Given the description of an element on the screen output the (x, y) to click on. 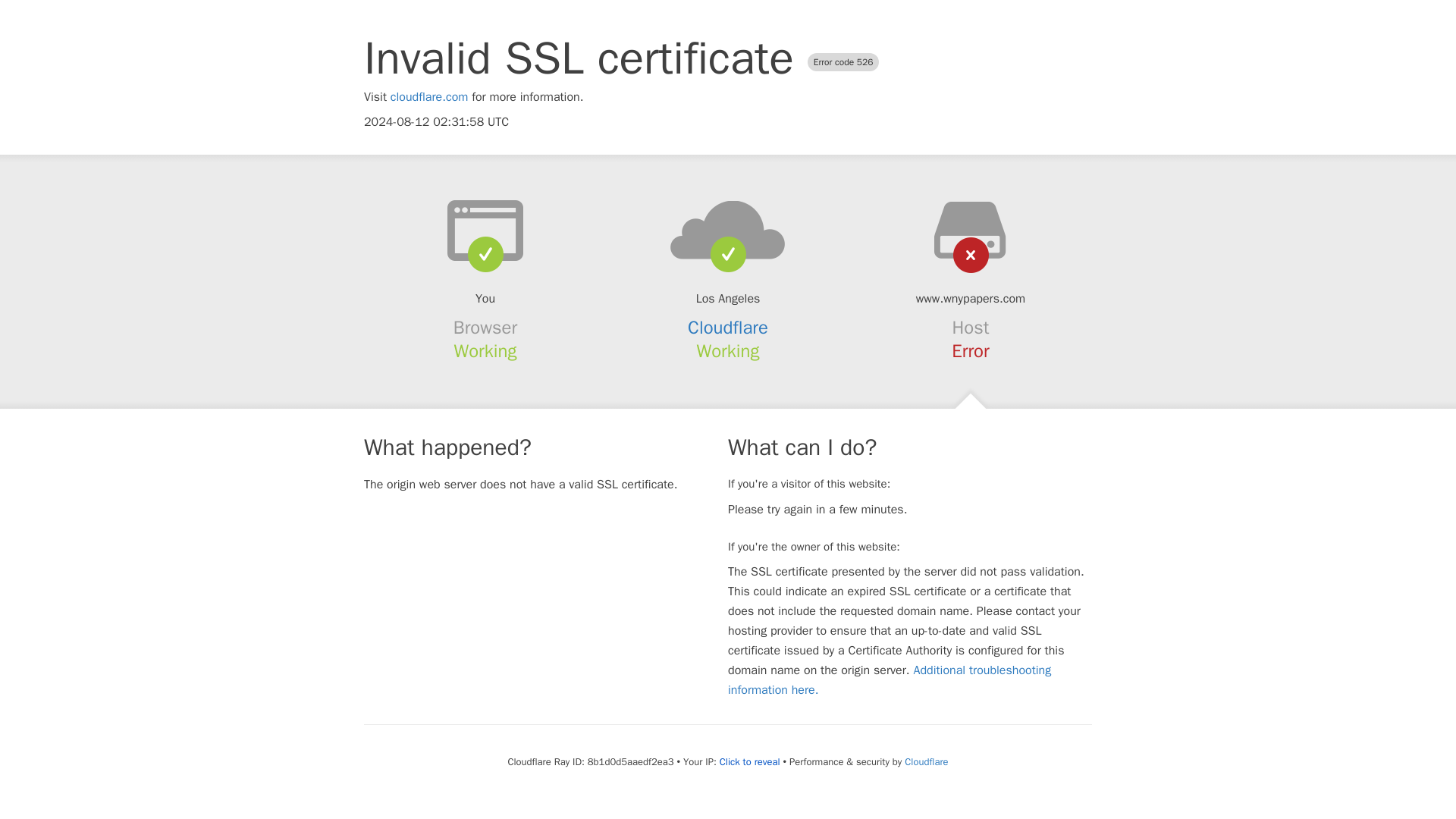
Click to reveal (749, 762)
Additional troubleshooting information here. (889, 679)
Cloudflare (925, 761)
cloudflare.com (429, 96)
Cloudflare (727, 327)
